Given the description of an element on the screen output the (x, y) to click on. 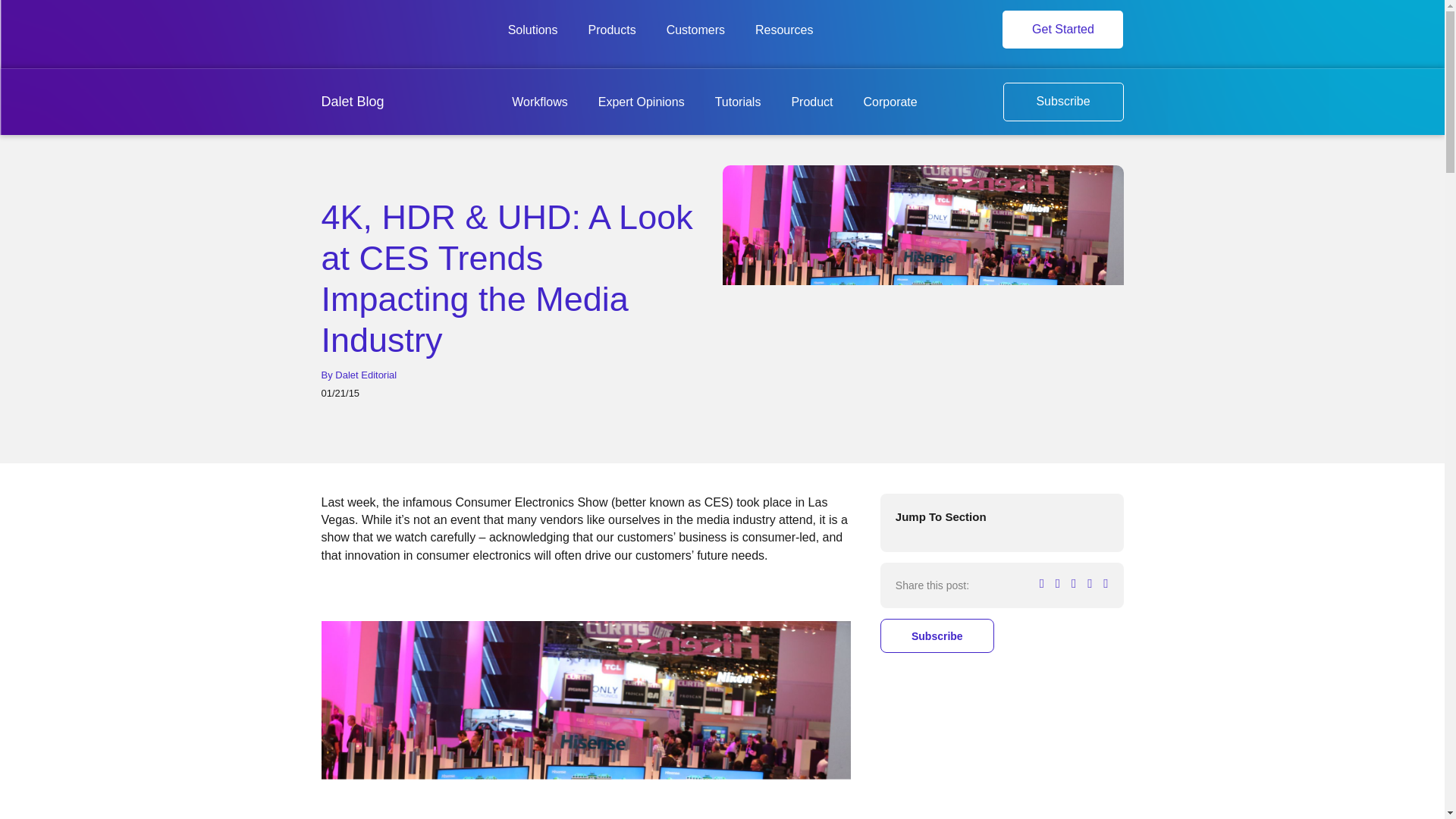
Solutions (532, 29)
Products (612, 29)
Resources (783, 29)
Customers (695, 29)
Subscribe (1062, 101)
